Given the description of an element on the screen output the (x, y) to click on. 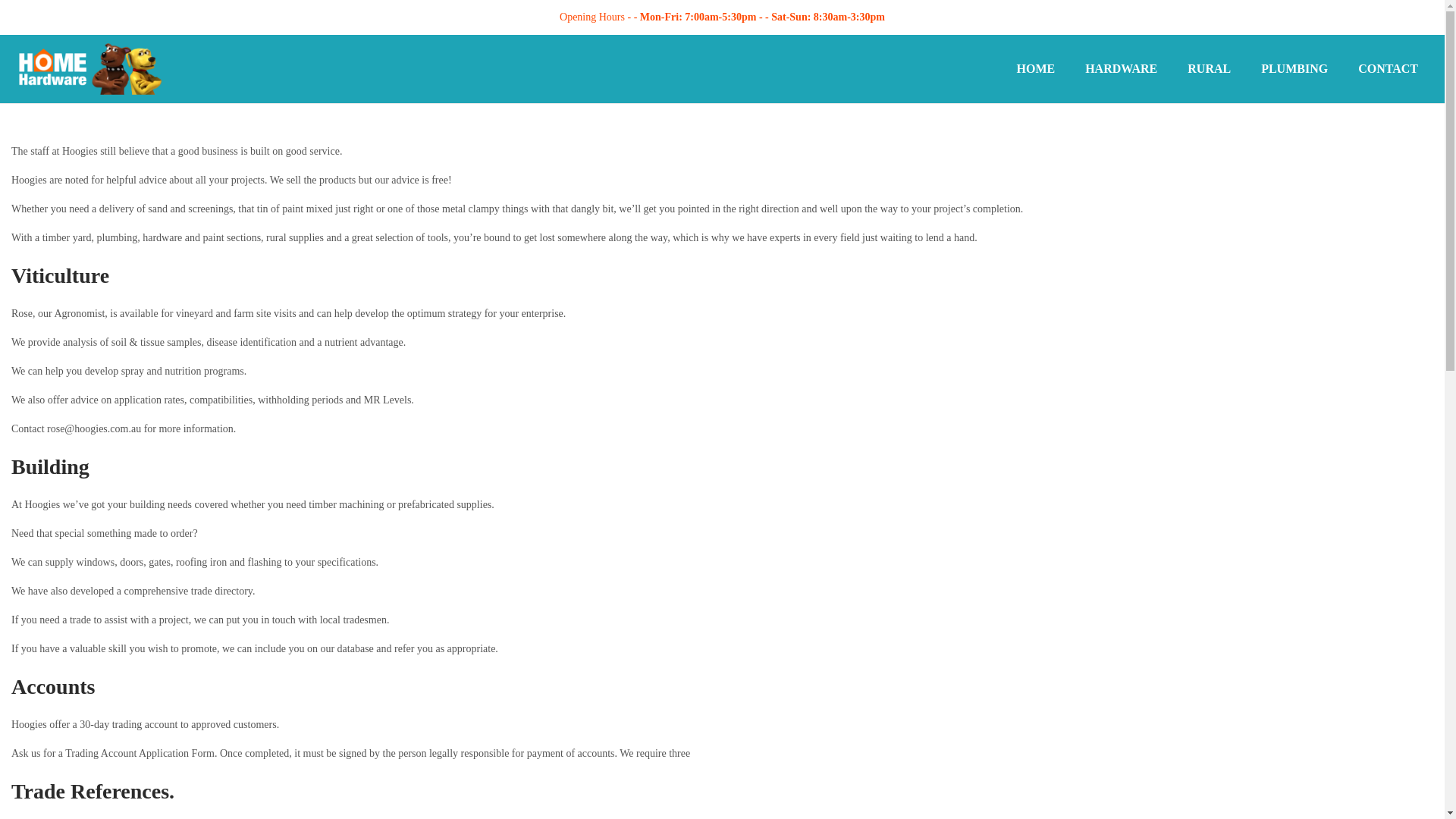
PLUMBING (1293, 69)
HARDWARE (1120, 69)
